Given the description of an element on the screen output the (x, y) to click on. 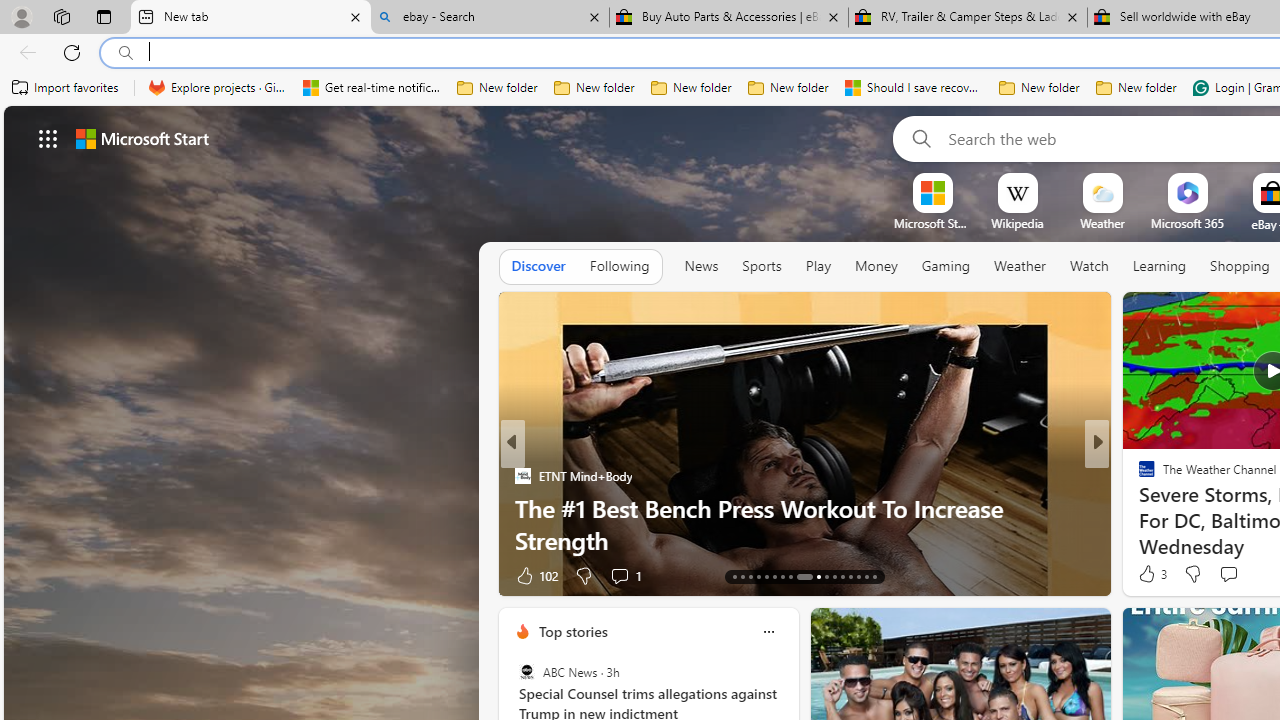
The #1 Best Bench Press Workout To Increase Strength (804, 523)
AutomationID: tab-21 (797, 576)
Top stories (572, 631)
Wikipedia (1017, 223)
